Given the description of an element on the screen output the (x, y) to click on. 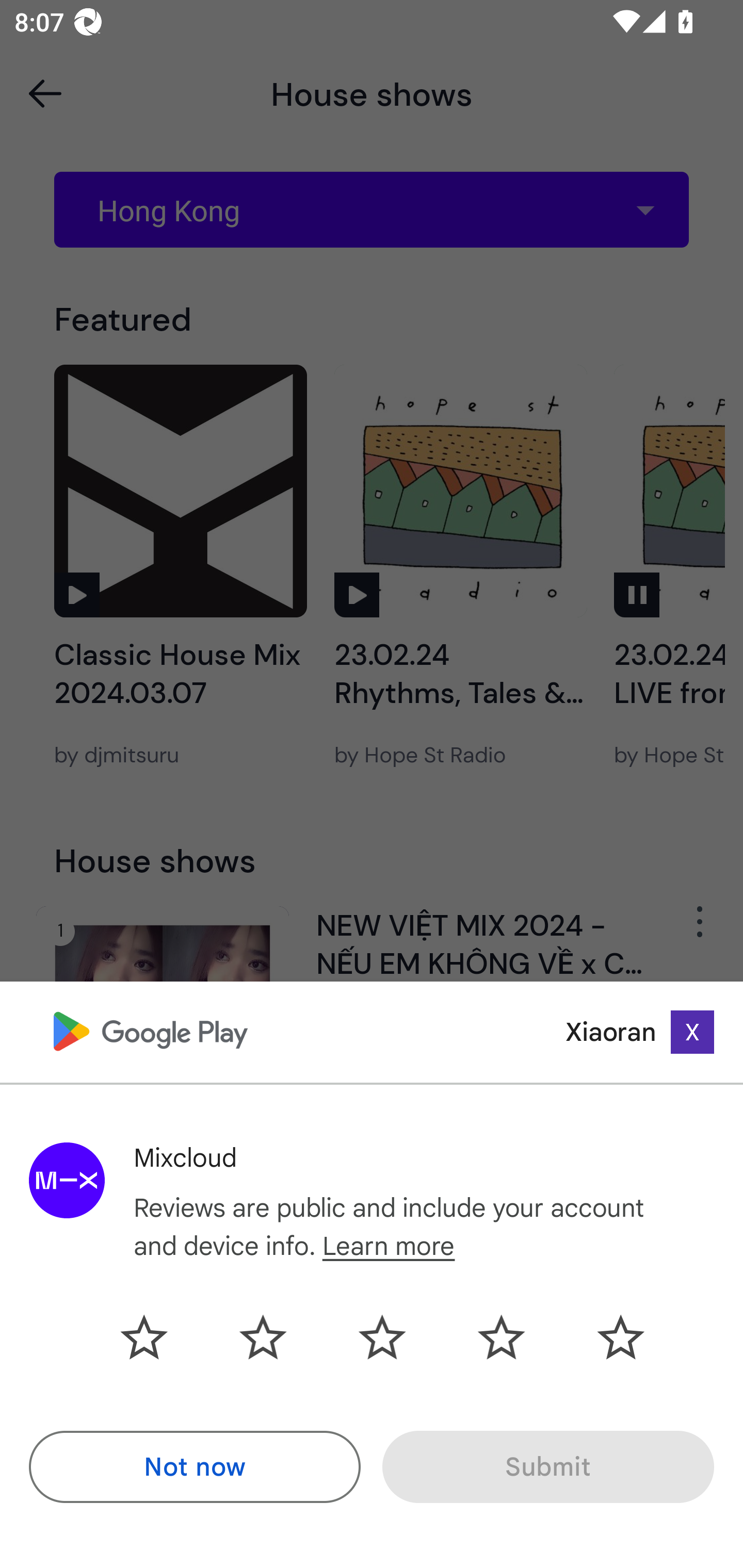
First star unselected (159, 1336)
Second star unselected (262, 1336)
Third star unselected (381, 1336)
Fourth star unselected (500, 1336)
Fifth star unselected (604, 1336)
Not now (194, 1466)
